Given the description of an element on the screen output the (x, y) to click on. 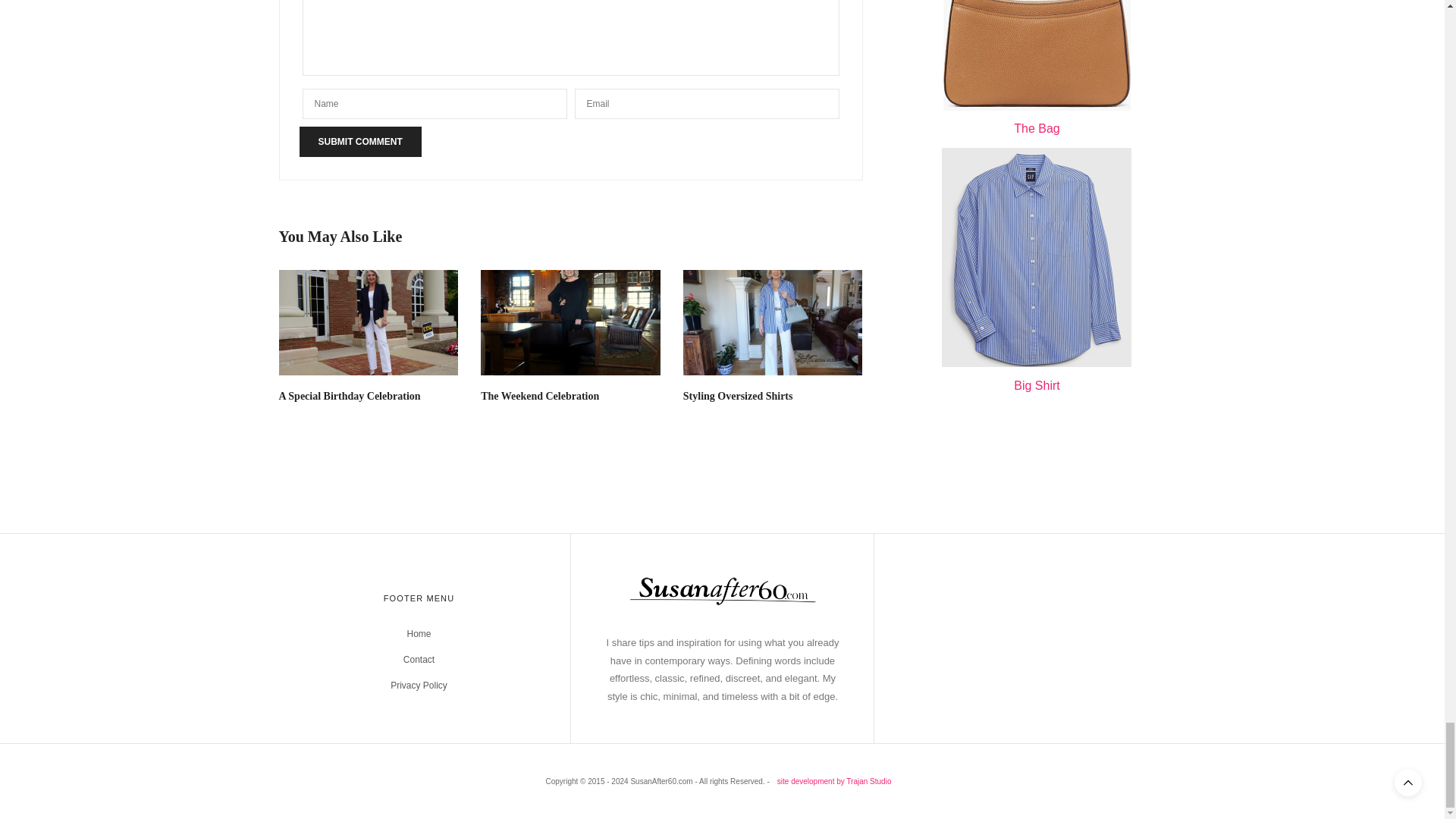
A Special Birthday Celebration (368, 322)
Styling Oversized Shirts (737, 396)
Styling Oversized Shirts (772, 322)
The Weekend Celebration (539, 396)
Submit Comment (359, 141)
The Weekend Celebration (570, 322)
A Special Birthday Celebration (349, 396)
